Given the description of an element on the screen output the (x, y) to click on. 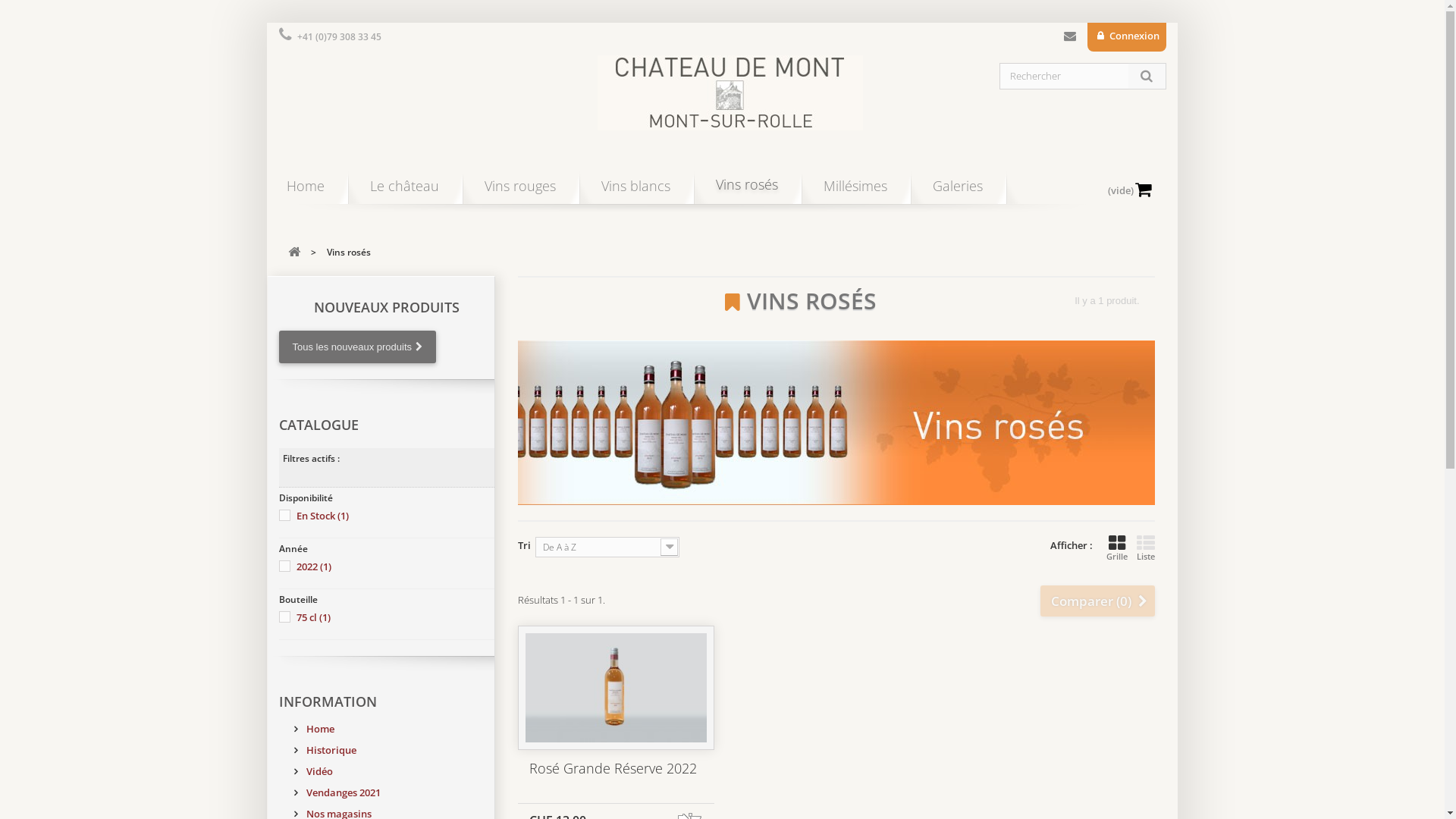
Comparer (0) Element type: text (1097, 600)
Connexion Element type: text (1126, 36)
Home Element type: text (314, 728)
Contactez-nous Element type: text (1069, 38)
Tous les nouveaux produits Element type: text (357, 346)
Grille Element type: text (1115, 547)
NOUVEAUX PRODUITS Element type: text (386, 307)
Vins rouges Element type: text (519, 190)
Galeries Element type: text (957, 190)
Vendanges 2021 Element type: text (337, 792)
Vins blancs Element type: text (635, 190)
En Stock (1) Element type: text (321, 515)
2022 (1) Element type: text (312, 566)
(vide) Element type: text (1135, 164)
Home Element type: text (305, 190)
75 cl (1) Element type: text (312, 617)
INFORMATION Element type: text (327, 701)
Liste Element type: text (1144, 547)
Historique Element type: text (325, 749)
